Given the description of an element on the screen output the (x, y) to click on. 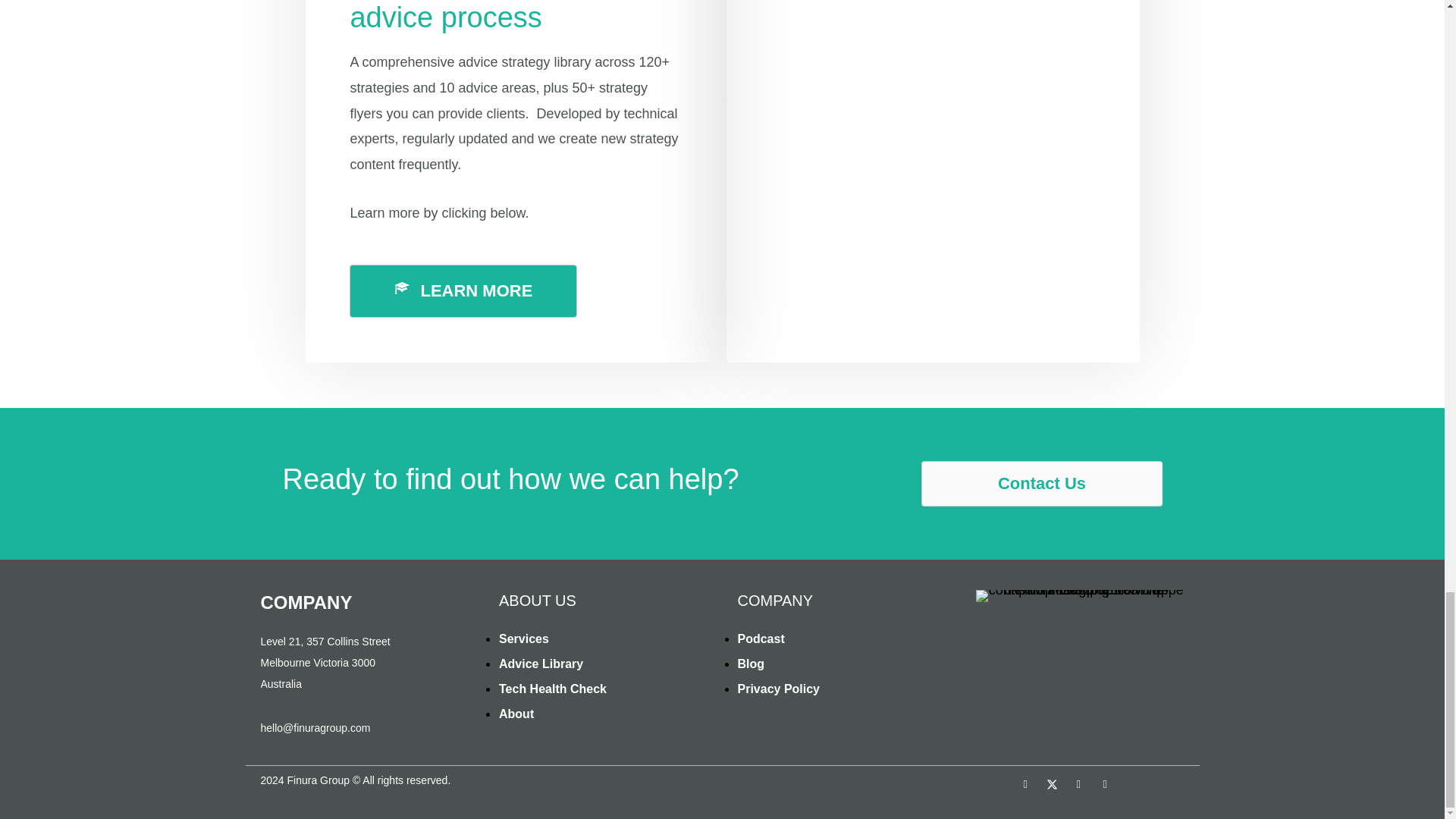
Services (603, 639)
Facebook (1024, 784)
Privacy Policy (840, 689)
LEARN MORE (462, 291)
Instagram (1078, 784)
cropped-Finura-Group-Full-White-BG.png (1080, 595)
Contact Us (1040, 483)
Advice Library (603, 663)
LinkedIn (1104, 784)
Blog (840, 663)
